Given the description of an element on the screen output the (x, y) to click on. 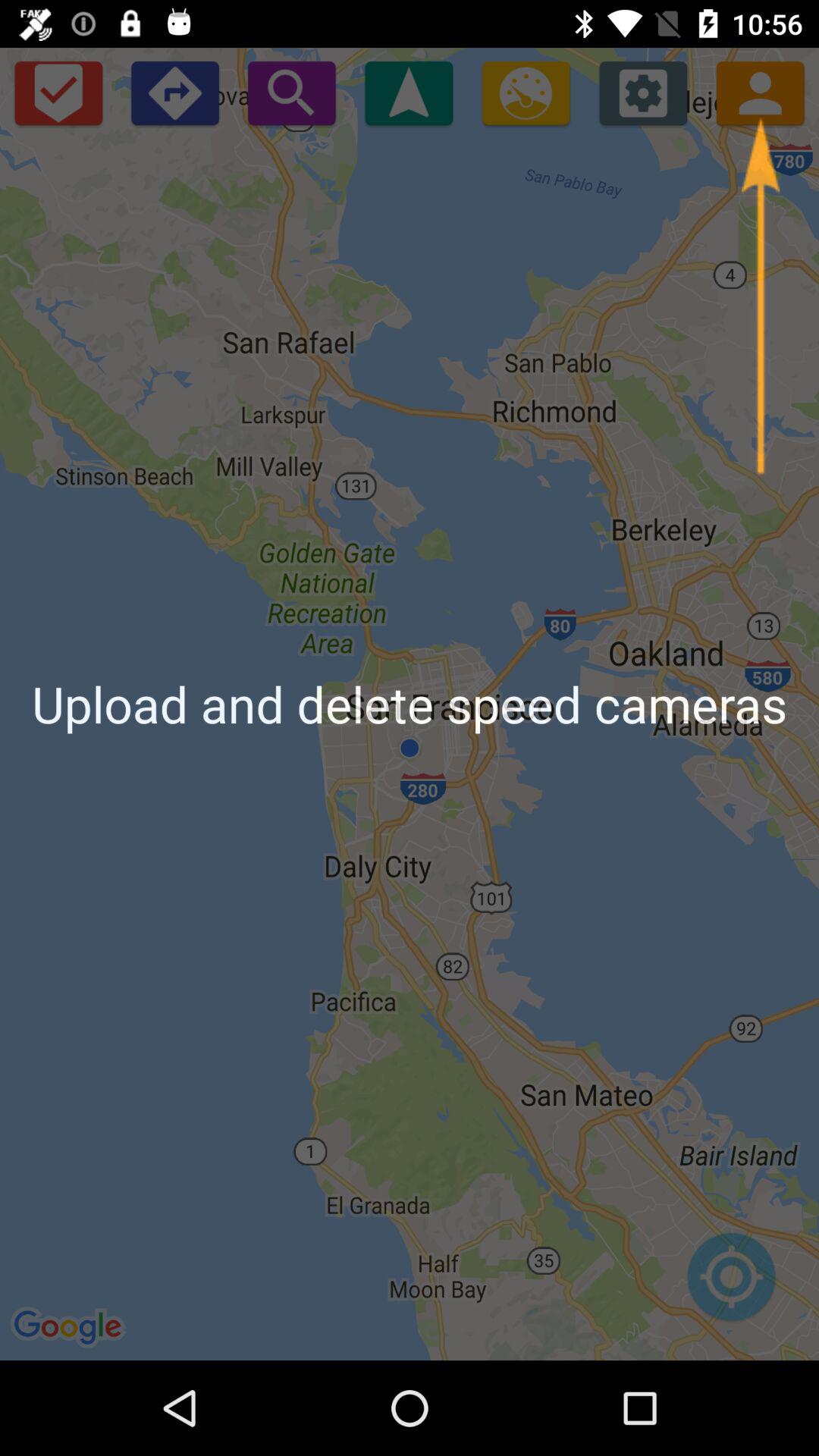
navigation button (408, 92)
